Given the description of an element on the screen output the (x, y) to click on. 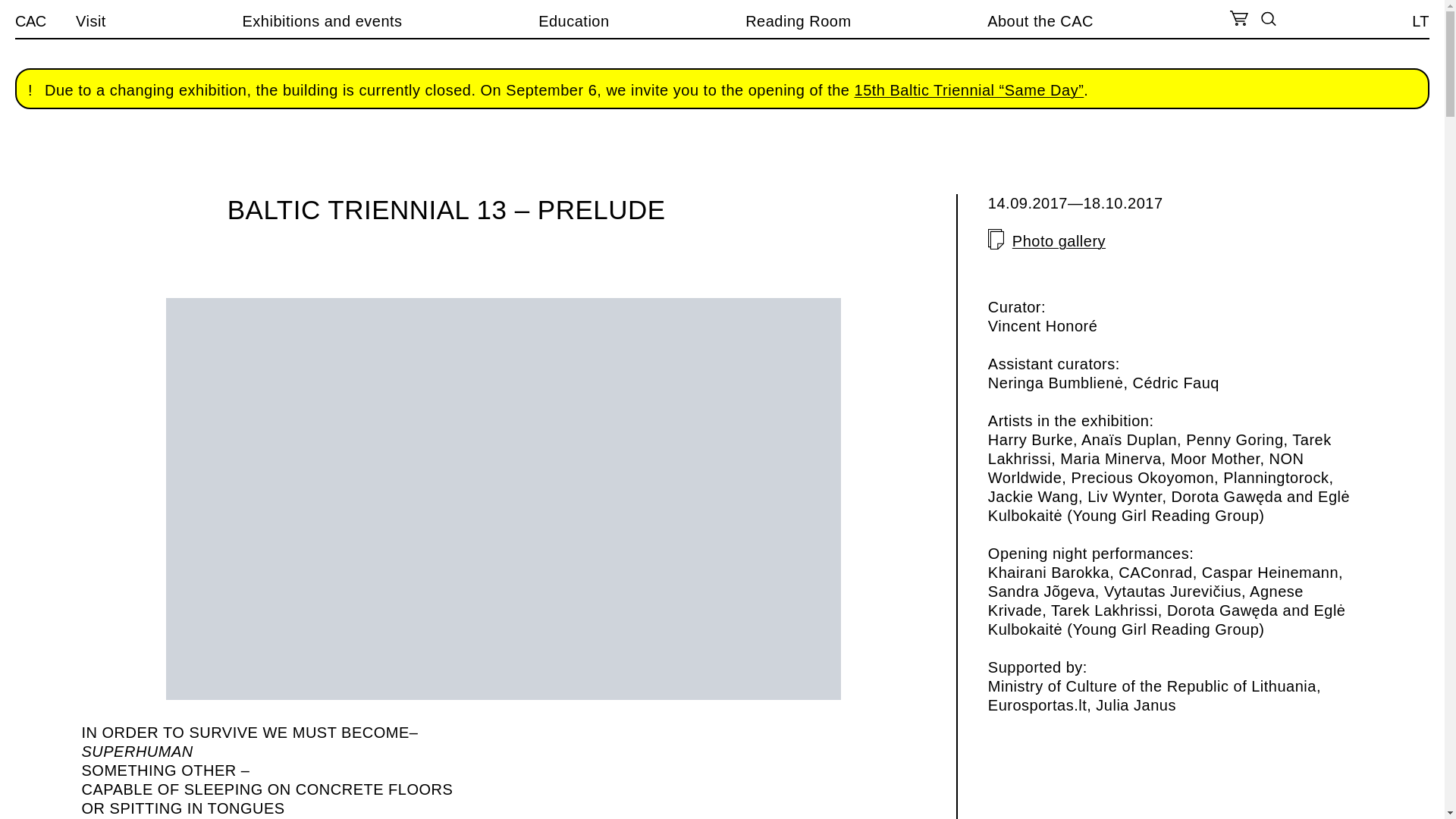
CAC (30, 21)
Education (573, 21)
Reading Room (797, 21)
Search (21, 7)
About the CAC (1040, 21)
LT (1420, 21)
Exhibitions and events (321, 21)
Visit (90, 21)
